Given the description of an element on the screen output the (x, y) to click on. 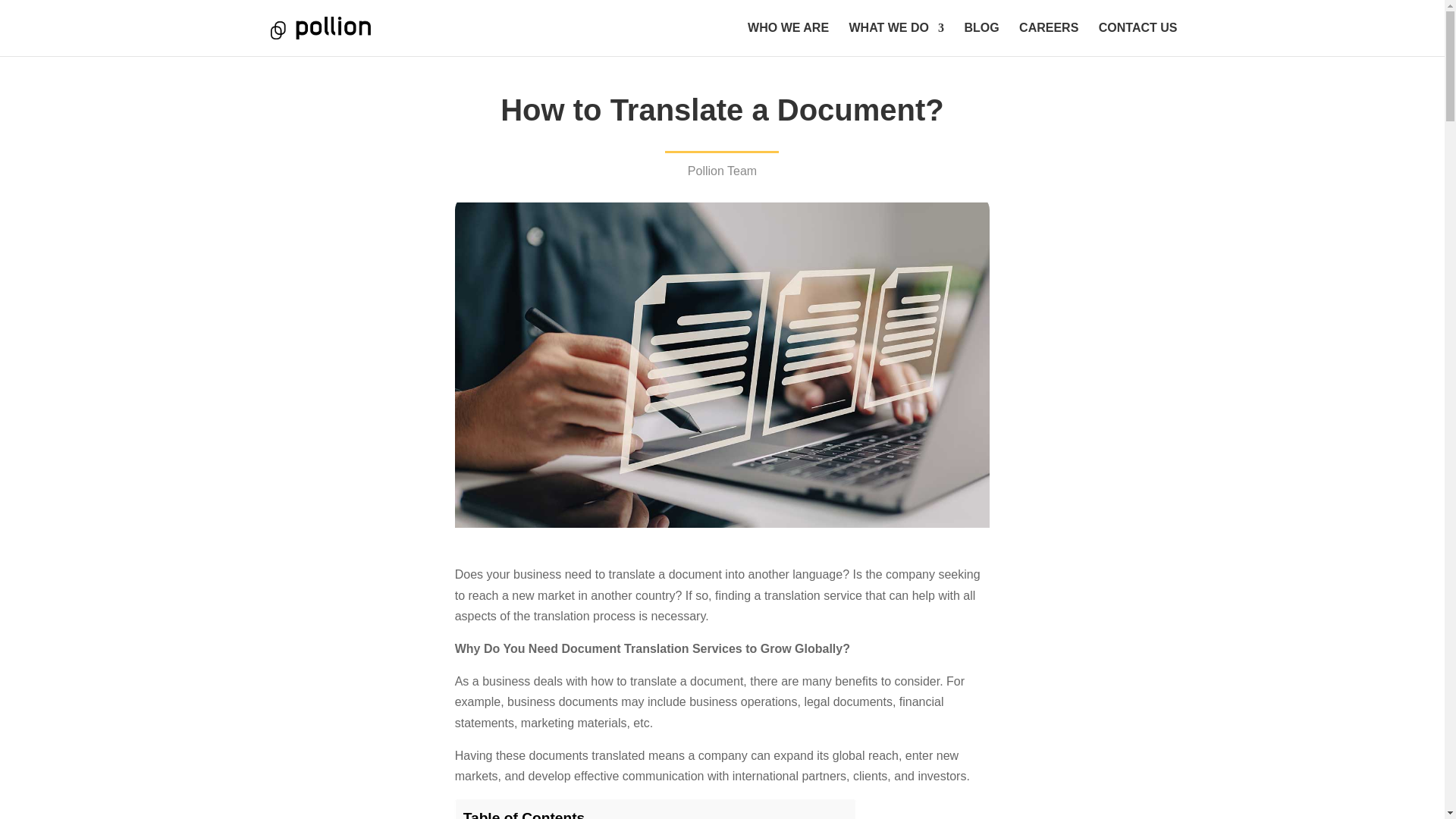
CAREERS (1048, 39)
BLOG (980, 39)
CONTACT US (1138, 39)
WHO WE ARE (788, 39)
WHAT WE DO (895, 39)
